Given the description of an element on the screen output the (x, y) to click on. 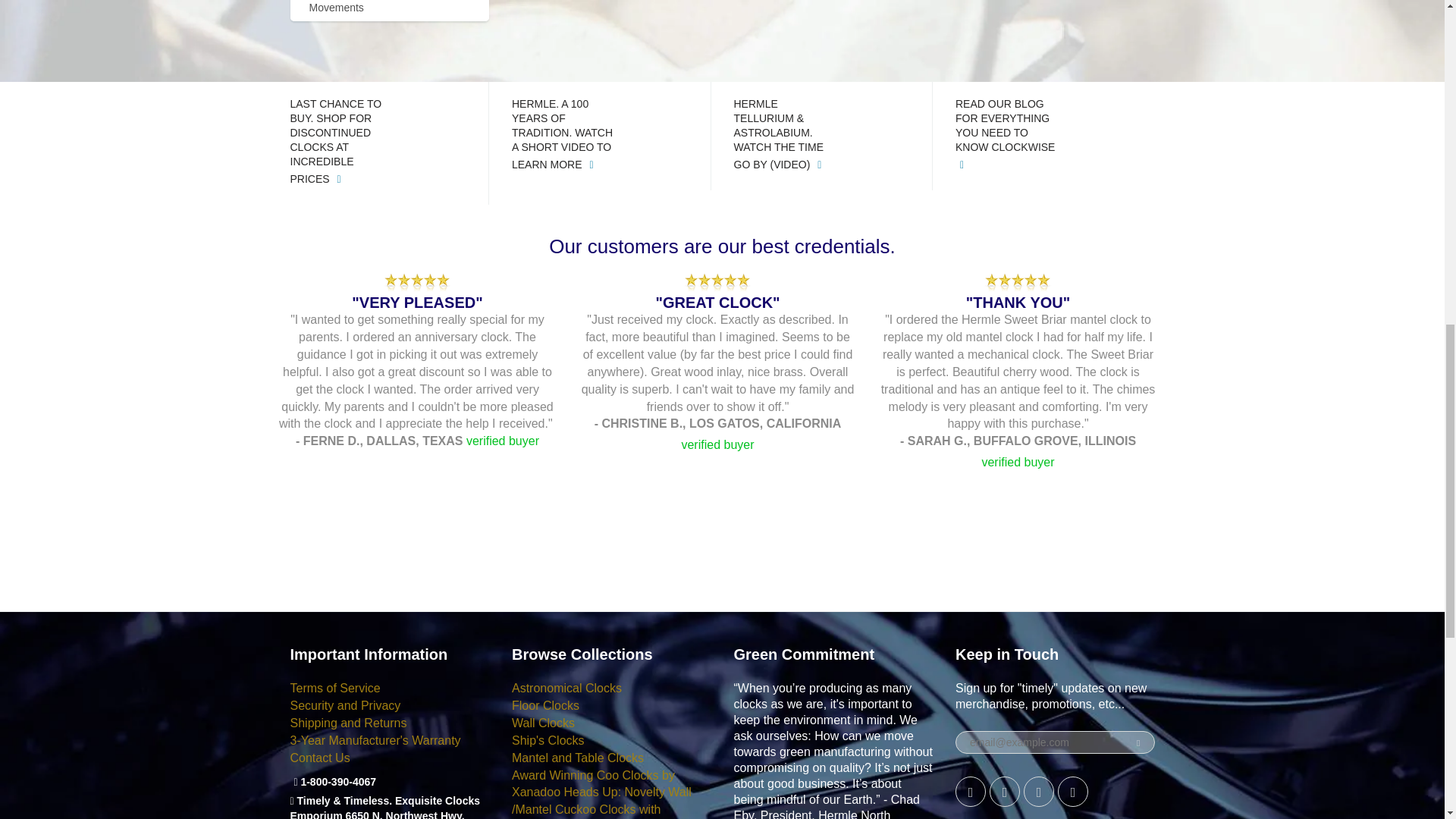
Pinterest (1005, 791)
Instagram (1038, 791)
YouTube (1072, 791)
Facebook (970, 791)
